Given the description of an element on the screen output the (x, y) to click on. 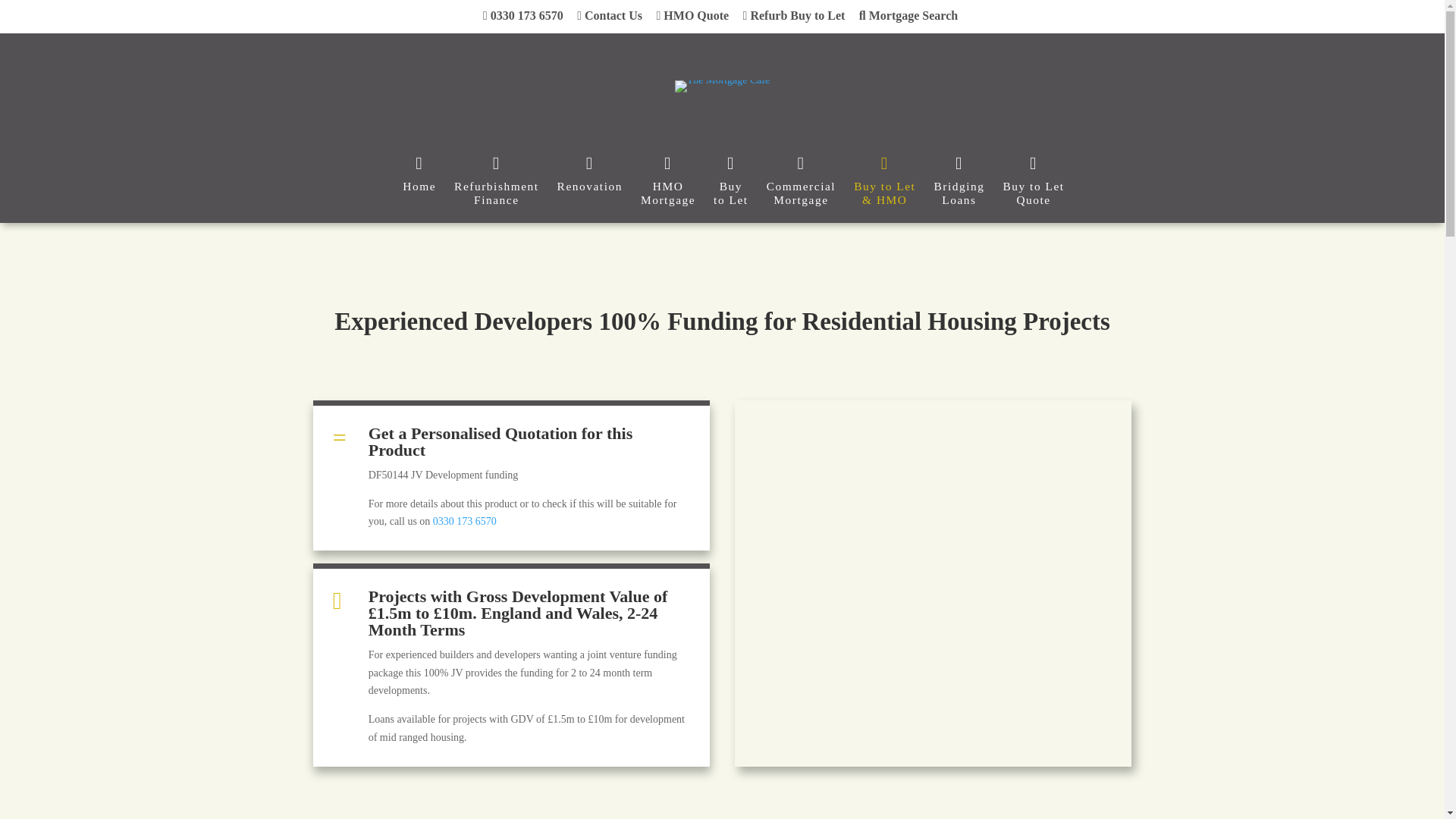
Refurb Buy to Let (796, 15)
Contact Us (611, 15)
Finance (496, 180)
Mortgage Search (496, 180)
0330 173 6570 (910, 15)
HMO Quote (524, 15)
